Given the description of an element on the screen output the (x, y) to click on. 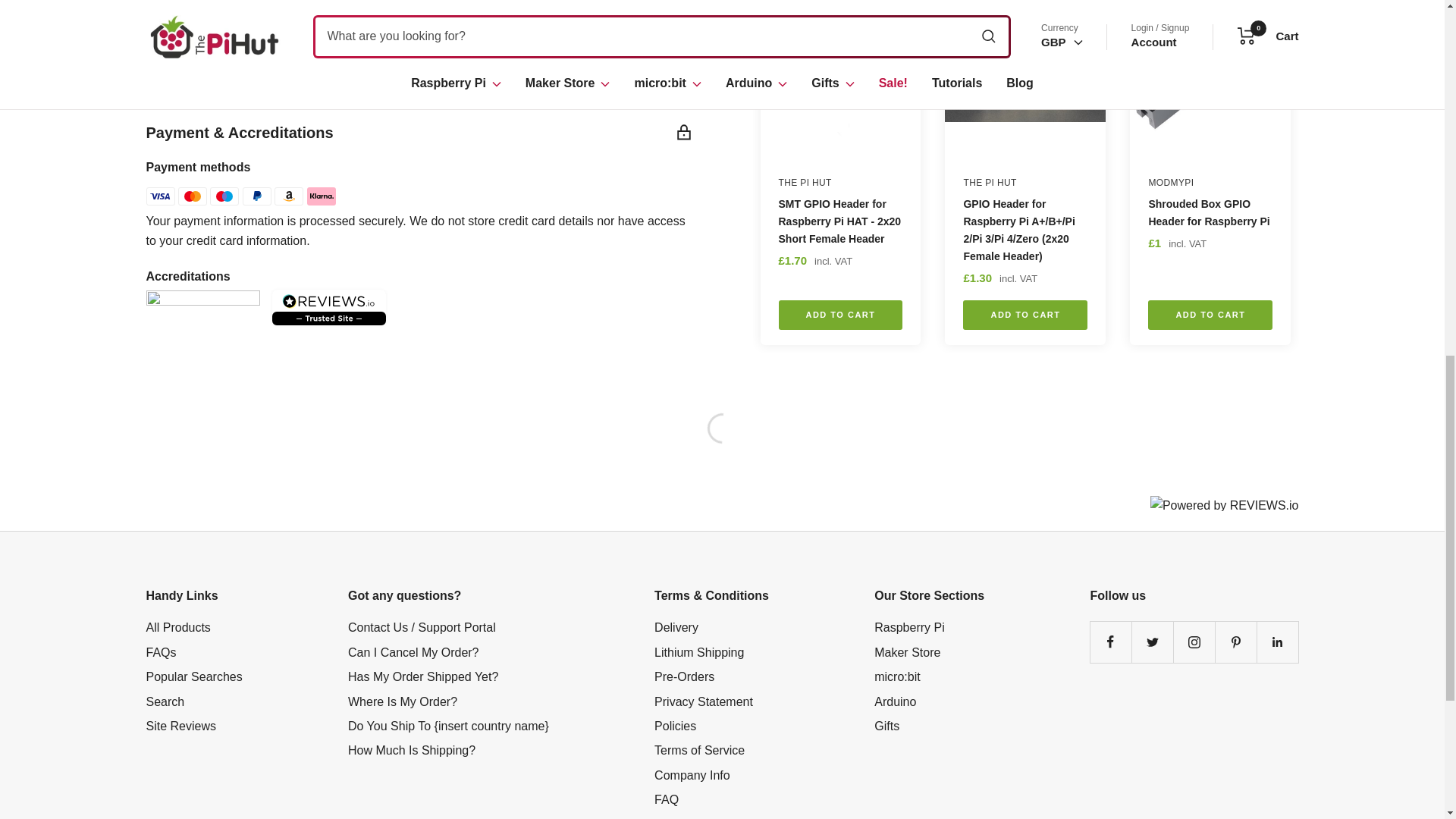
Maestro (223, 196)
Visa (159, 196)
Mastercard (191, 196)
GPIO Header (306, 1)
GPIO stacking header (474, 1)
GPIO SMT Header (348, 1)
GPIO socket (396, 1)
